Given the description of an element on the screen output the (x, y) to click on. 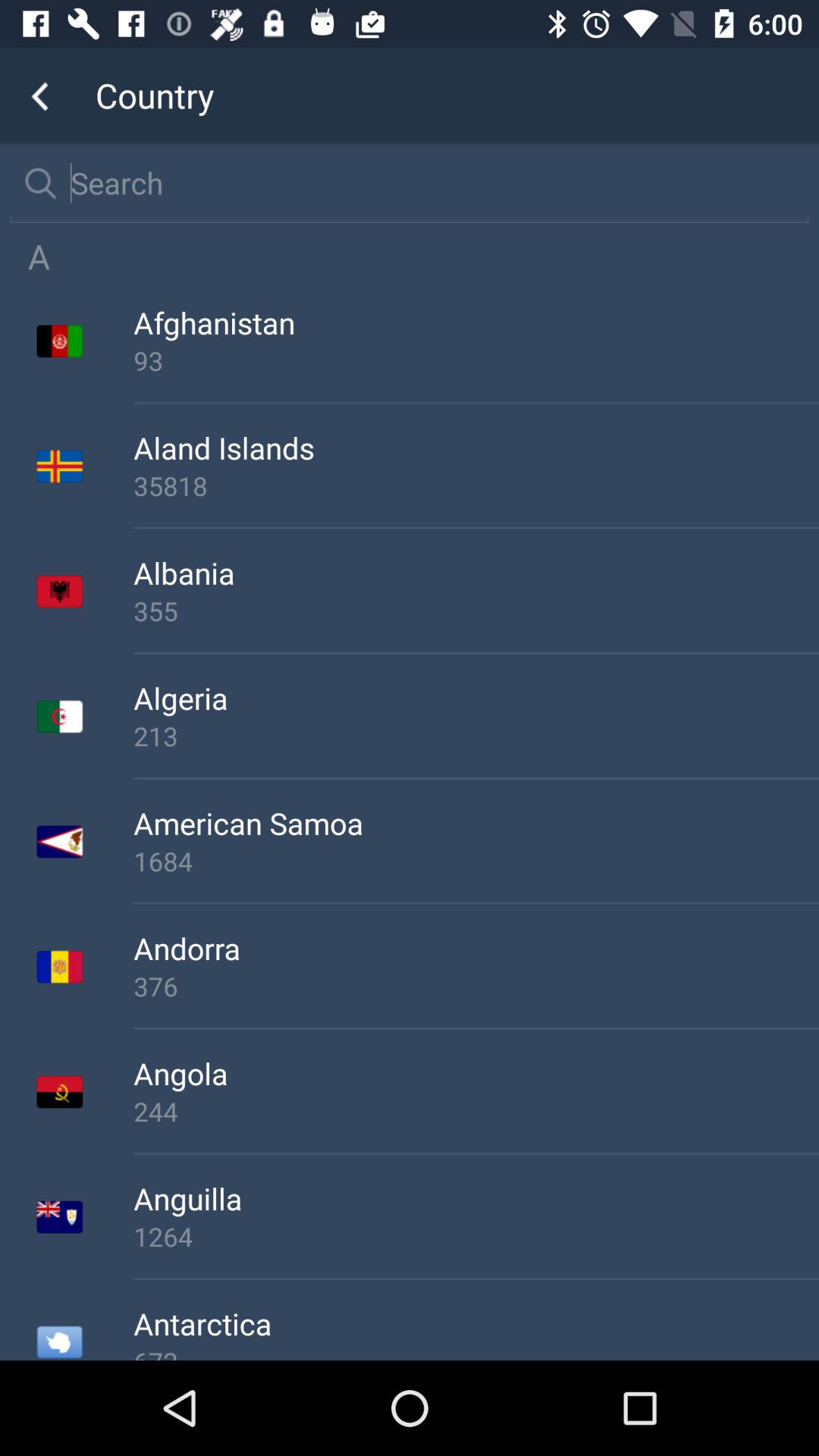
search country (429, 183)
